Given the description of an element on the screen output the (x, y) to click on. 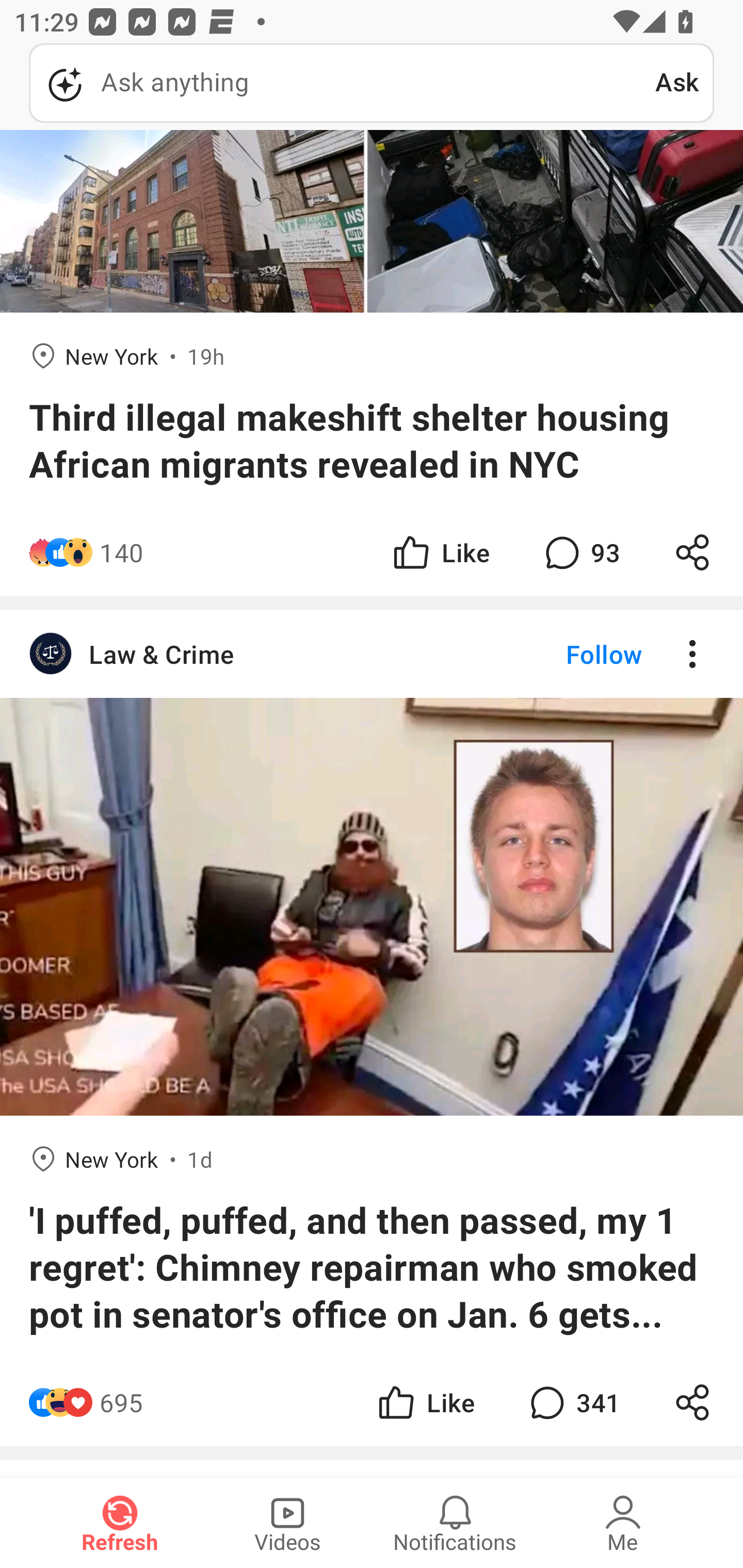
Ask anything (341, 82)
140 (121, 552)
Like (439, 552)
93 (579, 552)
Law & Crime Follow (371, 653)
Follow (569, 653)
695 (121, 1402)
Like (425, 1402)
341 (572, 1402)
Videos (287, 1522)
Notifications (455, 1522)
Me (622, 1522)
